Given the description of an element on the screen output the (x, y) to click on. 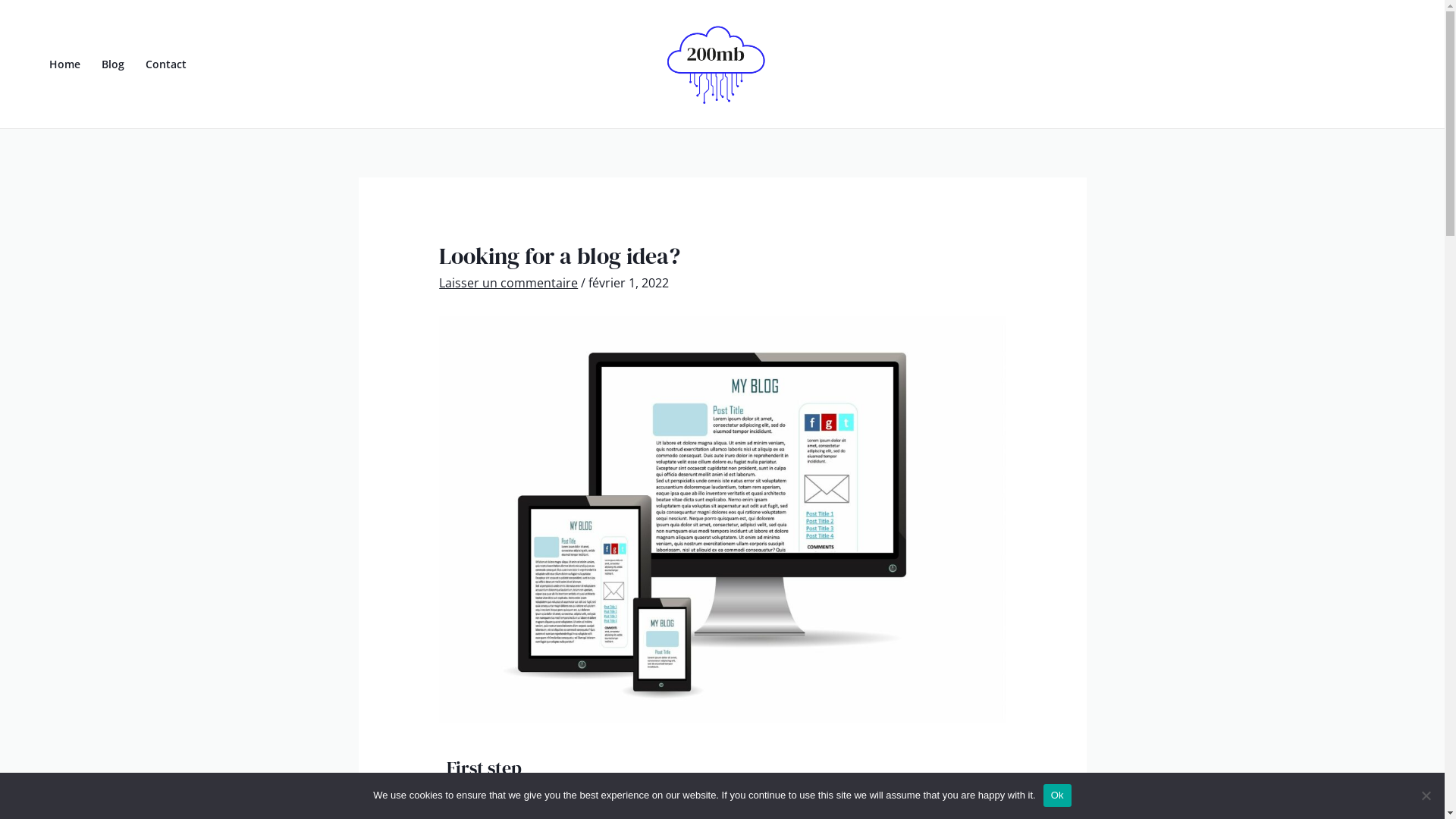
Blog Element type: text (112, 64)
Laisser un commentaire Element type: text (508, 282)
Ok Element type: text (1057, 795)
Contact Element type: text (165, 64)
Home Element type: text (64, 64)
